Given the description of an element on the screen output the (x, y) to click on. 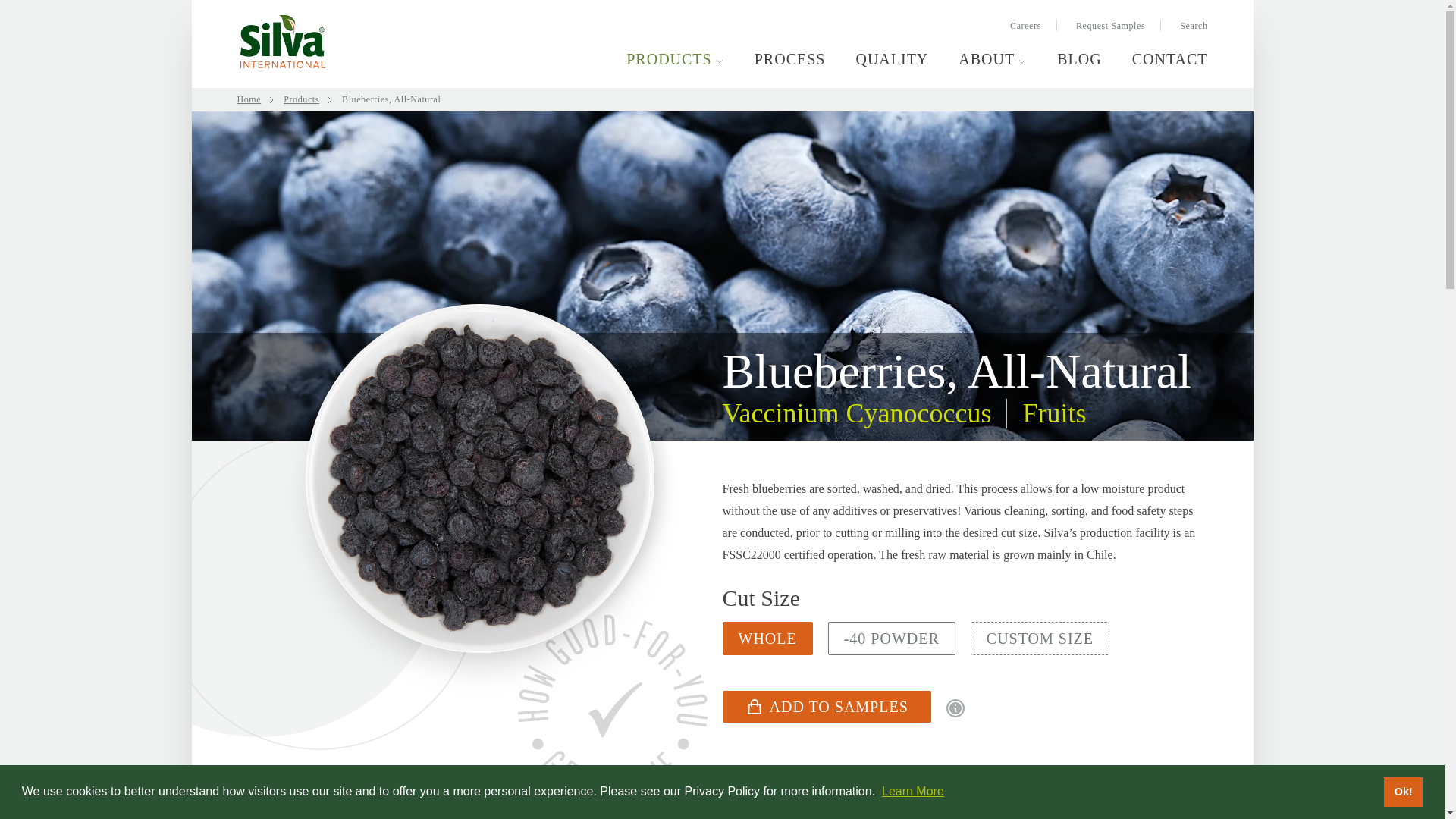
PRODUCTS (674, 58)
Ok! (1403, 791)
PROCESS (789, 58)
QUALITY (891, 58)
Learn More (912, 790)
Request Samples (1110, 25)
Careers (1025, 25)
Search (1185, 25)
BLOG (1078, 58)
ABOUT (991, 58)
